Given the description of an element on the screen output the (x, y) to click on. 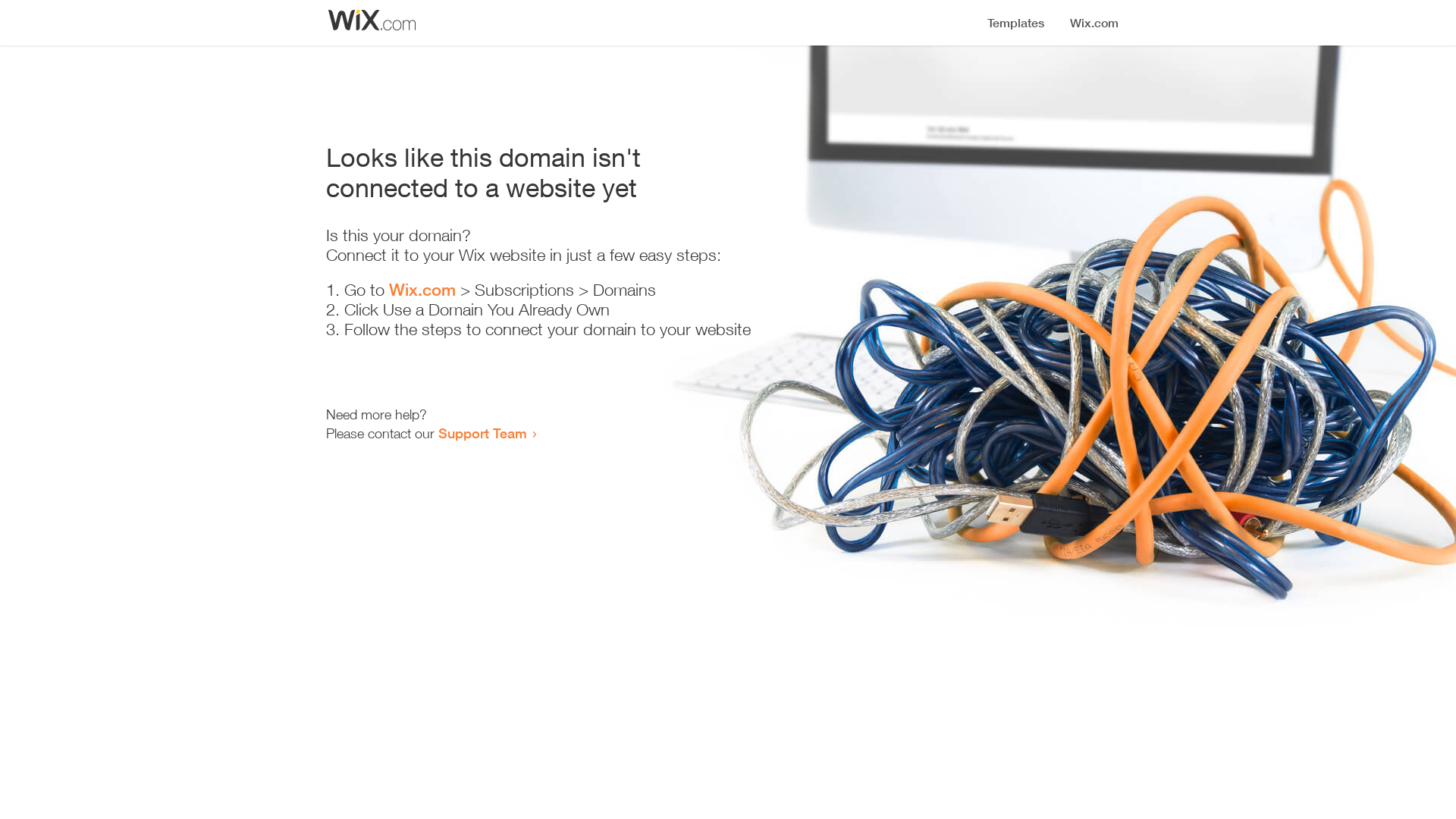
Support Team Element type: text (482, 432)
Wix.com Element type: text (422, 289)
